Given the description of an element on the screen output the (x, y) to click on. 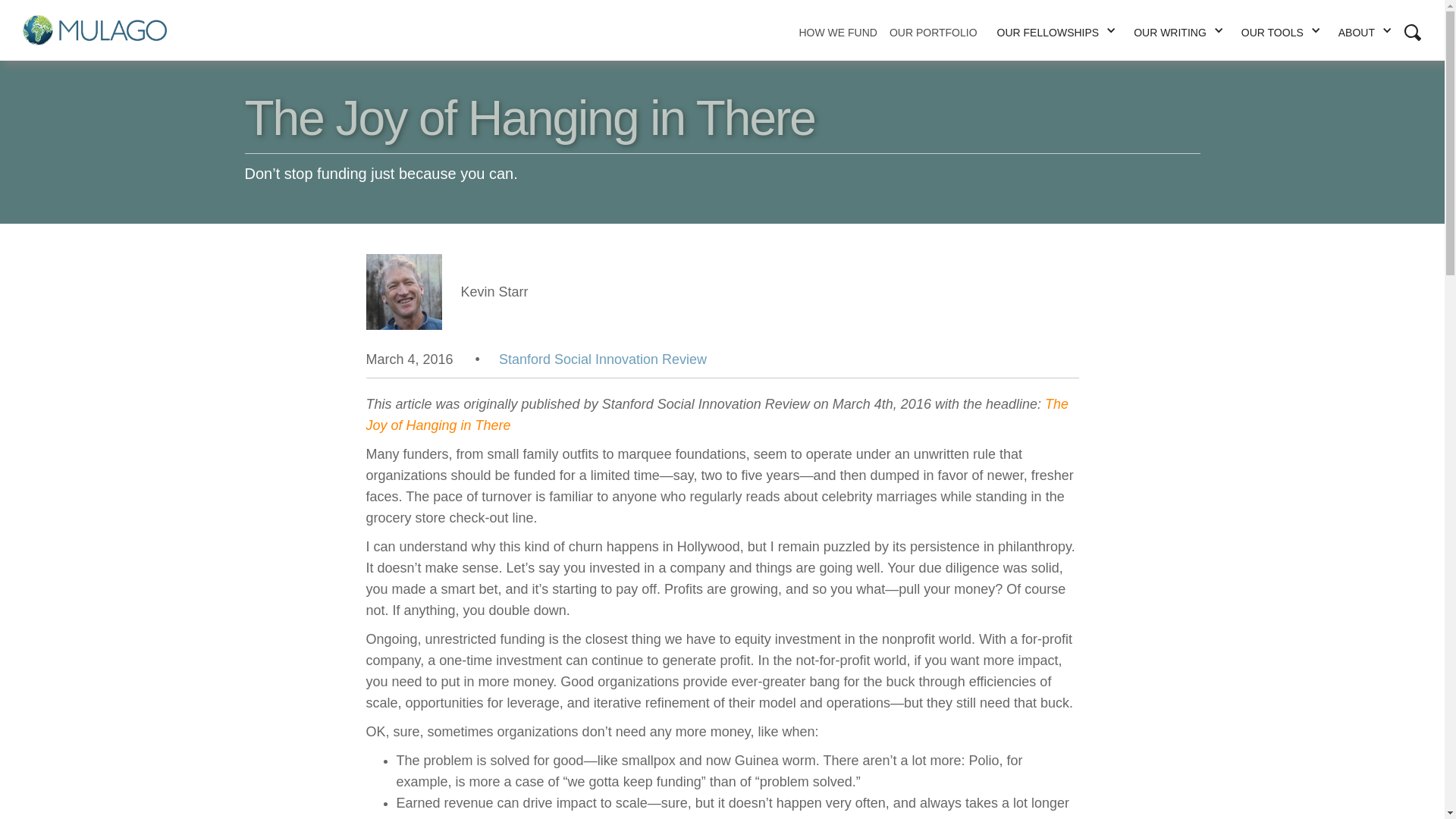
The Joy of Hanging in There (716, 414)
Stanford Social Innovation Review (602, 359)
Search (977, 82)
OUR PORTFOLIO (933, 30)
HOW WE FUND (837, 30)
